Given the description of an element on the screen output the (x, y) to click on. 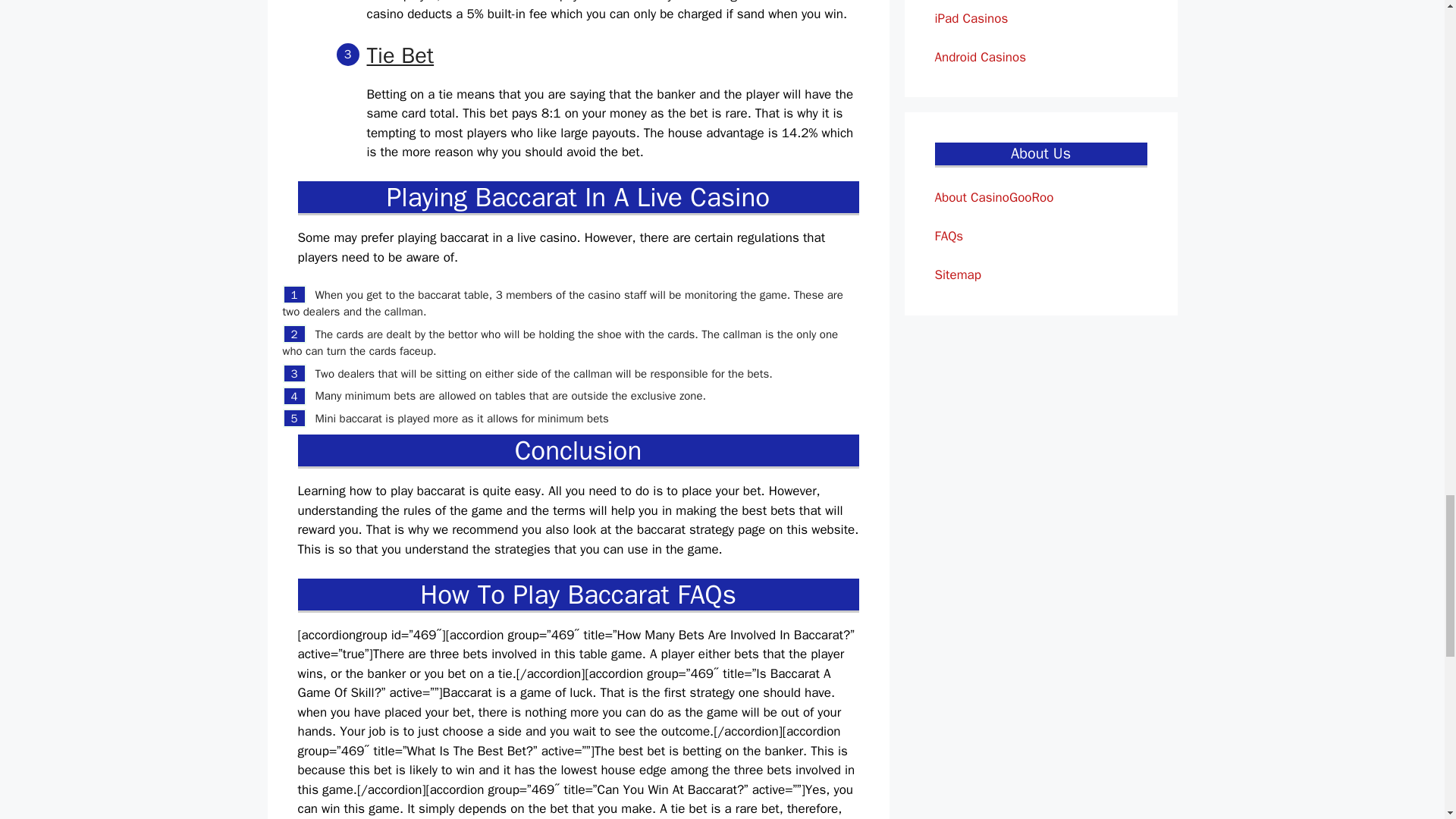
Playing Baccarat In A Live Casino (578, 196)
